Given the description of an element on the screen output the (x, y) to click on. 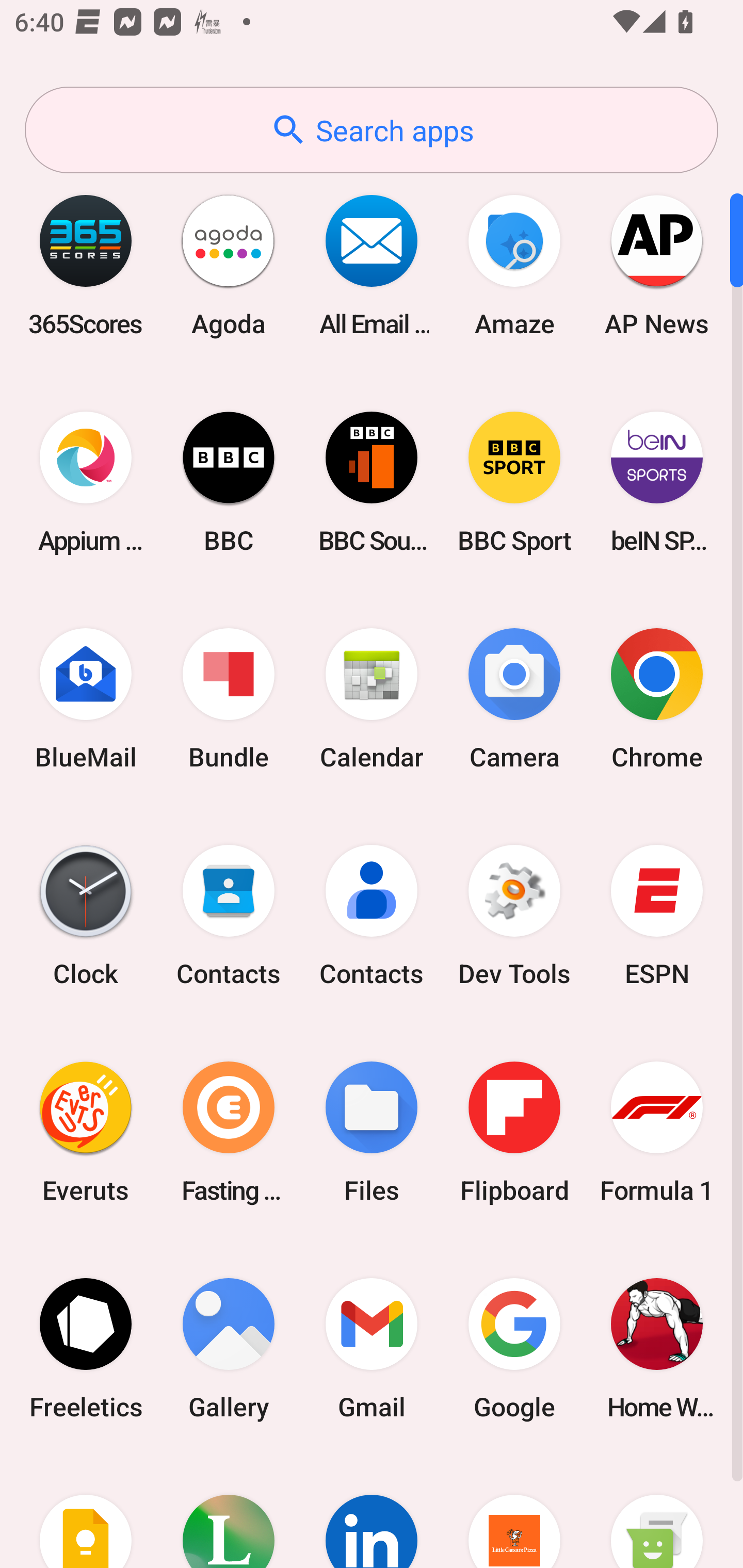
  Search apps (371, 130)
365Scores (85, 264)
Agoda (228, 264)
All Email Connect (371, 264)
Amaze (514, 264)
AP News (656, 264)
Appium Settings (85, 482)
BBC (228, 482)
BBC Sounds (371, 482)
BBC Sport (514, 482)
beIN SPORTS (656, 482)
BlueMail (85, 699)
Bundle (228, 699)
Calendar (371, 699)
Camera (514, 699)
Chrome (656, 699)
Clock (85, 915)
Contacts (228, 915)
Contacts (371, 915)
Dev Tools (514, 915)
ESPN (656, 915)
Everuts (85, 1131)
Fasting Coach (228, 1131)
Files (371, 1131)
Flipboard (514, 1131)
Formula 1 (656, 1131)
Freeletics (85, 1348)
Gallery (228, 1348)
Gmail (371, 1348)
Google (514, 1348)
Home Workout (656, 1348)
Keep Notes (85, 1512)
Lifesum (228, 1512)
LinkedIn (371, 1512)
Little Caesars Pizza (514, 1512)
Messaging (656, 1512)
